Given the description of an element on the screen output the (x, y) to click on. 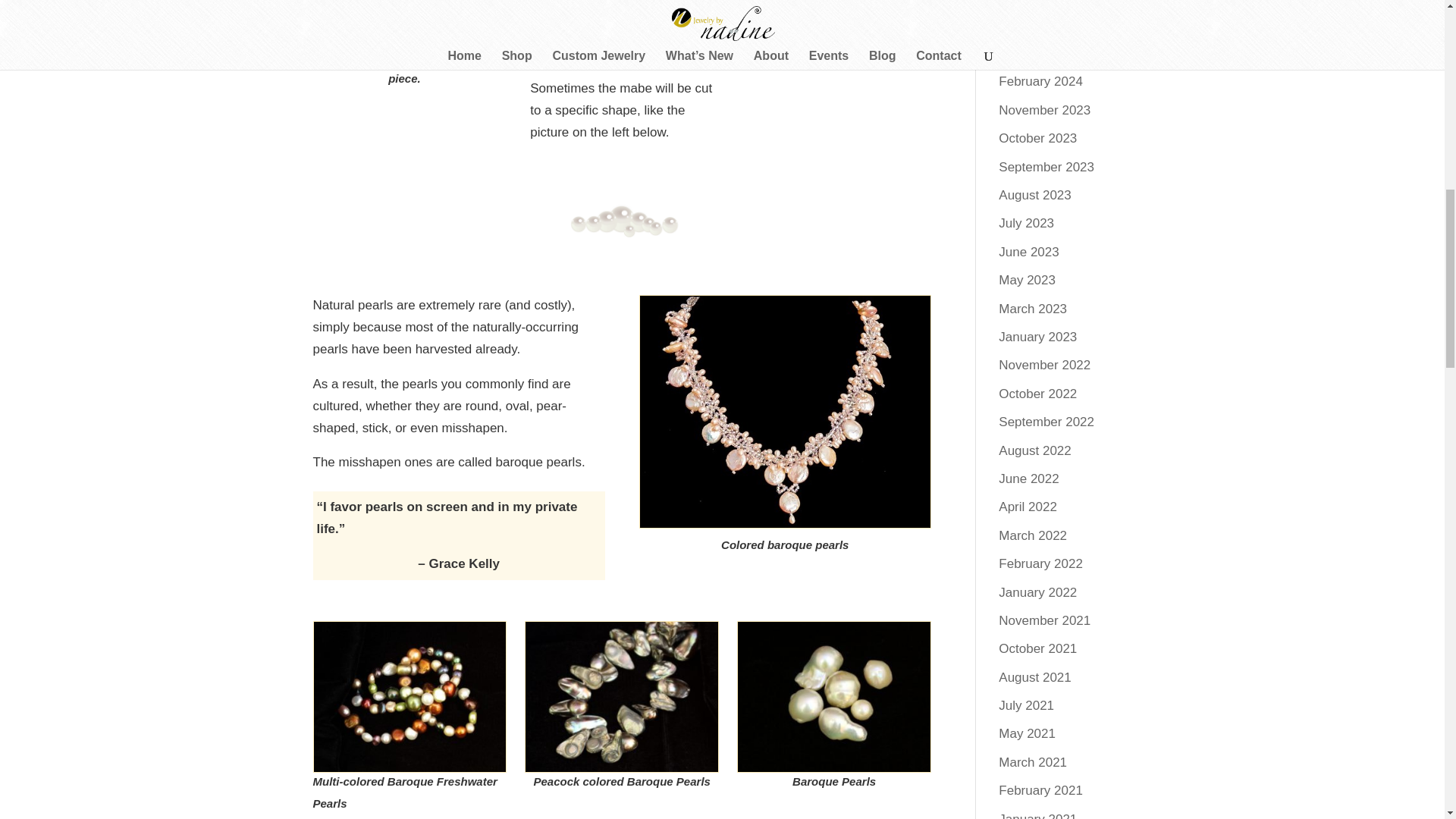
multi-colored-baroque-jewelry-by-nadine (409, 696)
boroque-pearls-necklace-jewelry-by-nadine (785, 411)
tri-mabe-pendant-jewelery-by-nadine (404, 19)
white-baroque-pearls-jewelry-by-nadine (834, 696)
colored-peacock-baroque-pearls-jewelry-by-nadine (621, 696)
pearl-divider-done (622, 218)
